Given the description of an element on the screen output the (x, y) to click on. 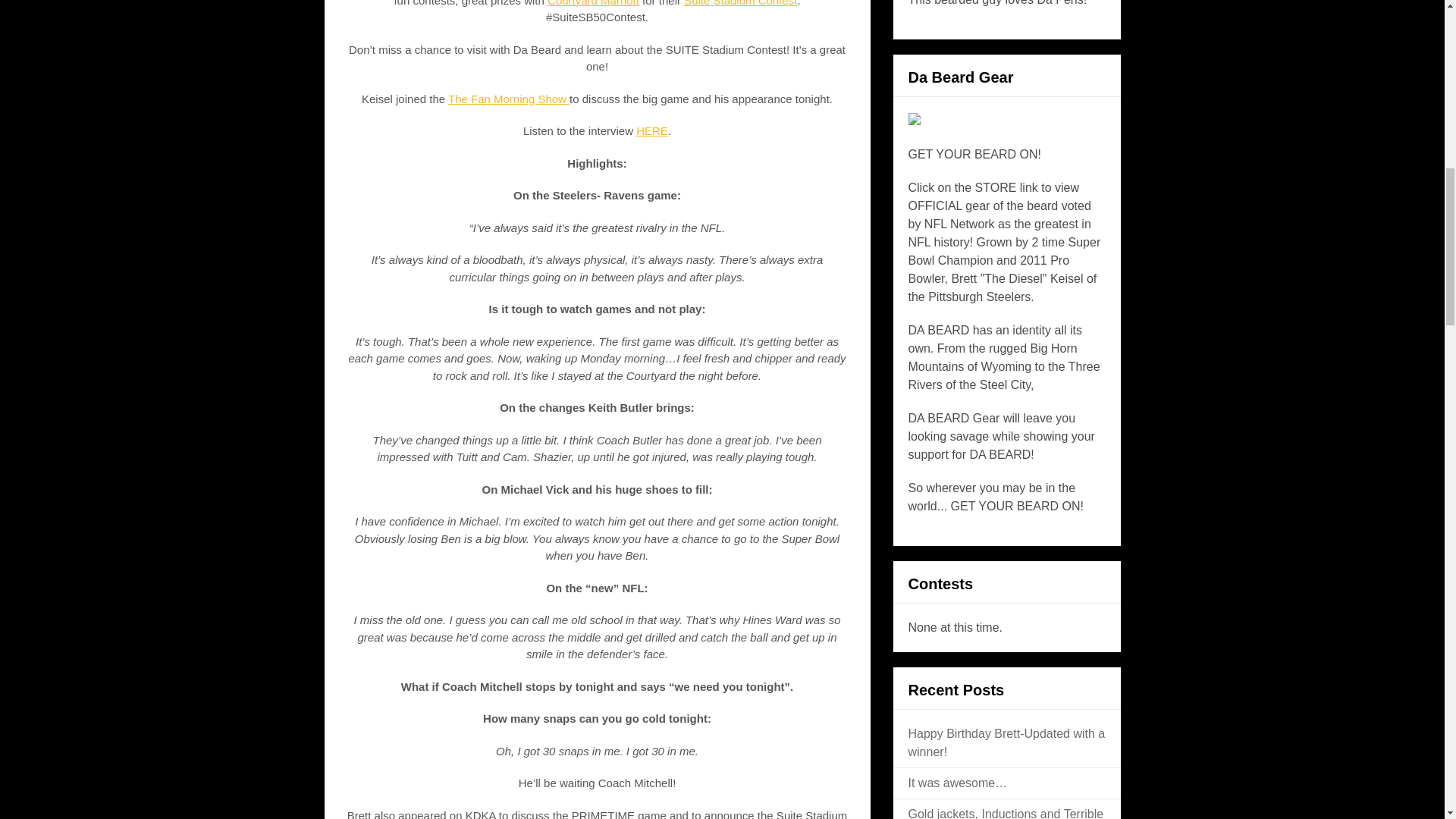
Suite Stadium Contest (740, 3)
Gold jackets, Inductions and Terrible Towels (1005, 813)
Happy Birthday Brett-Updated with a winner! (1006, 742)
HERE (652, 130)
The Fan Morning Show (508, 98)
Courtyard Marriott (593, 3)
